Given the description of an element on the screen output the (x, y) to click on. 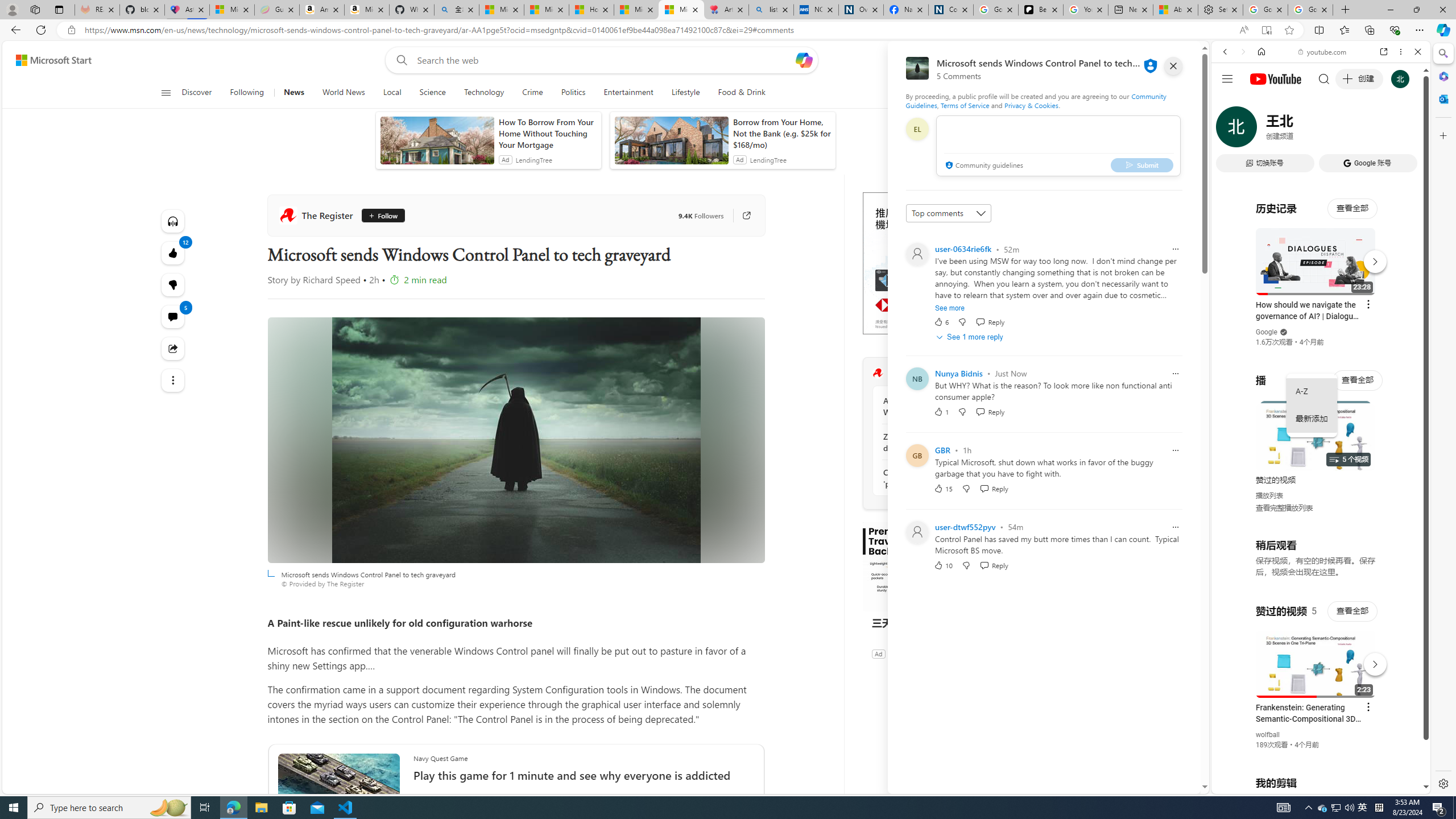
Web search (398, 60)
Class: qc-adchoices-icon (1028, 196)
user-dtwf552pyv (964, 526)
Class: at-item (172, 380)
Google (1266, 331)
10 Like (942, 564)
